Given the description of an element on the screen output the (x, y) to click on. 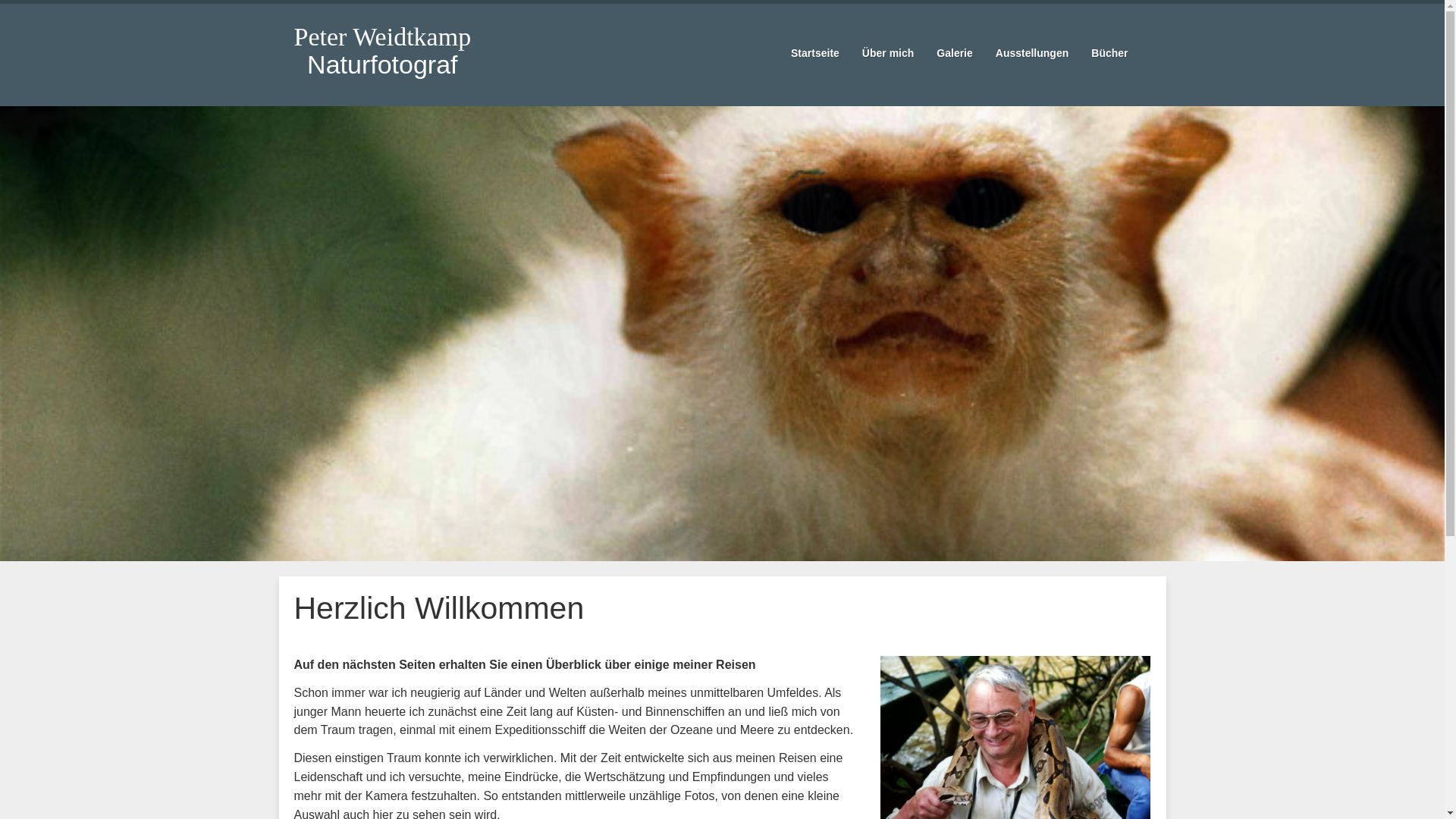
Startseite Element type: text (814, 53)
Peter Weidtkamp
Naturfotograf Element type: text (382, 55)
Ausstellungen Element type: text (1031, 53)
Galerie Element type: text (954, 53)
